Given the description of an element on the screen output the (x, y) to click on. 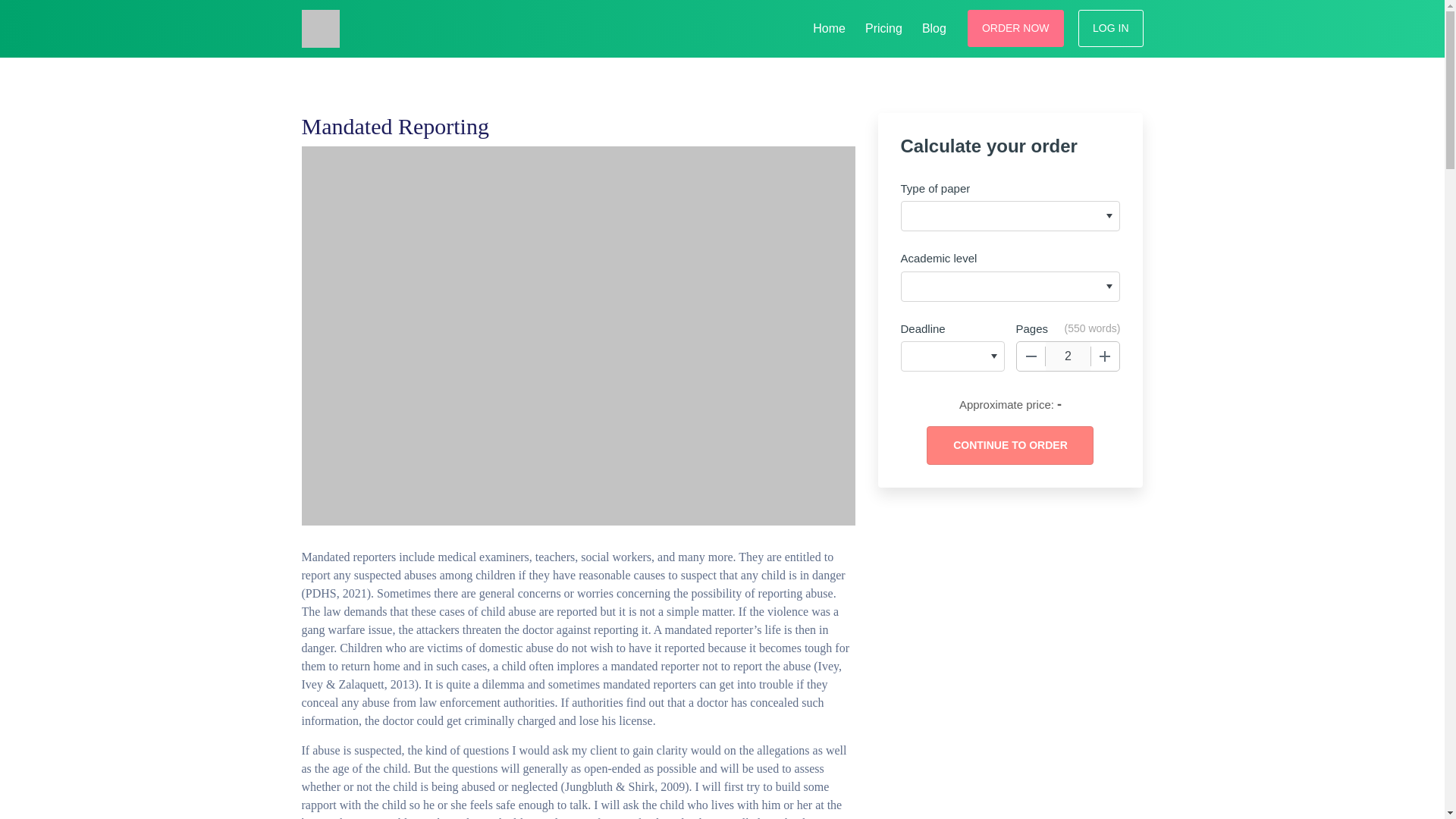
Home (828, 26)
Increase (1104, 356)
Continue to order (1009, 445)
Decrease (1030, 356)
Blog (933, 26)
Home (828, 26)
Pricing (883, 26)
ORDER NOW (1016, 27)
Pricing (883, 26)
Continue to order (1009, 445)
